Given the description of an element on the screen output the (x, y) to click on. 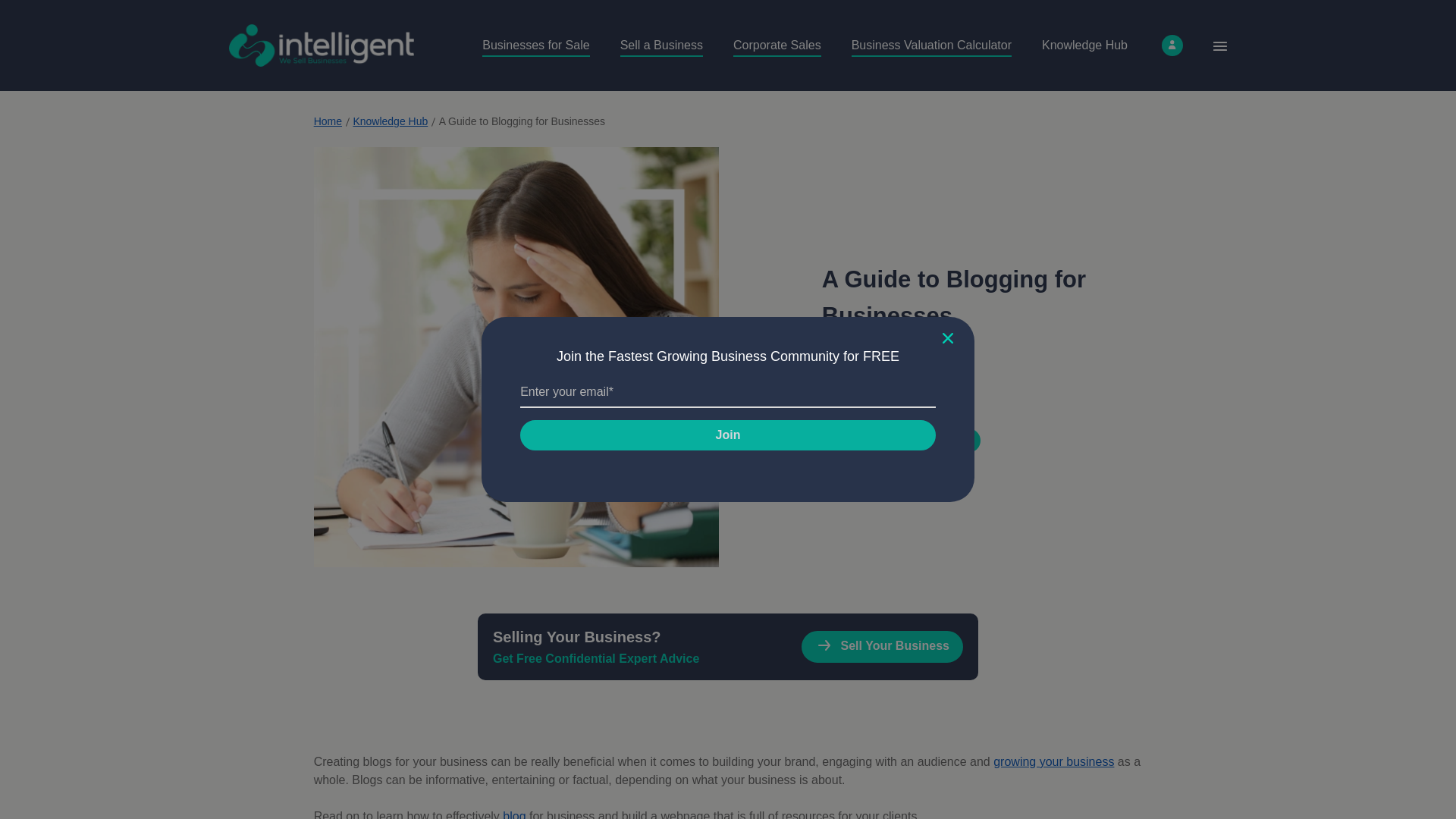
Copy (933, 440)
Home (328, 121)
Knowledge Hub (1084, 44)
Corporate Sales (777, 45)
Knowledge Hub (390, 121)
Business Valuation Calculator (931, 45)
WhatsApp (900, 440)
blog (513, 814)
Twitter (866, 440)
Facebook (832, 440)
Join (727, 435)
Sell a Business (661, 45)
Businesses for Sale (535, 45)
Email (967, 440)
Sell Your Business (882, 646)
